Given the description of an element on the screen output the (x, y) to click on. 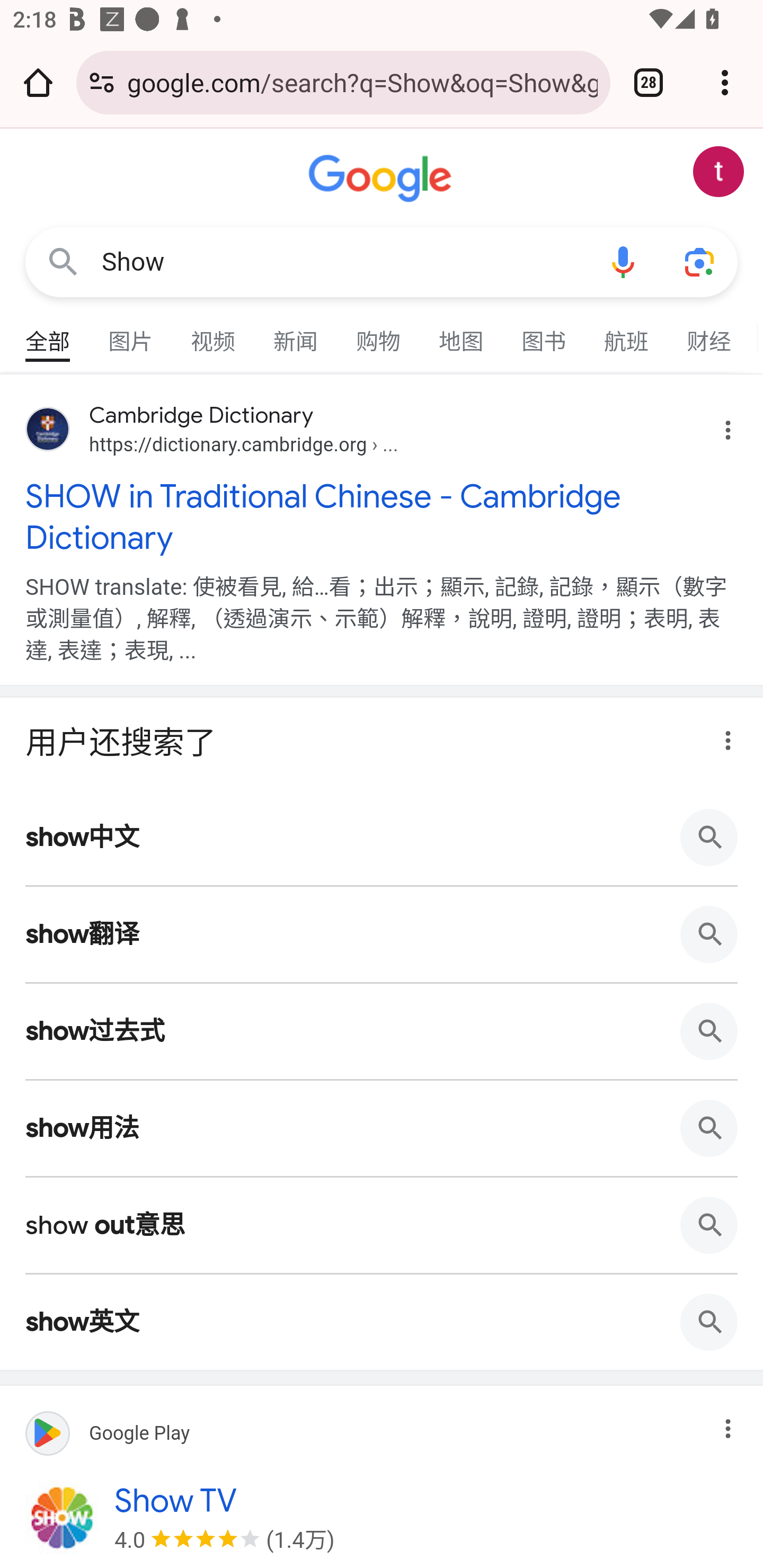
Open the home page (38, 82)
Connection is secure (101, 82)
Switch or close tabs (648, 82)
Customize and control Google Chrome (724, 82)
Google (381, 179)
Google 账号： test appium (testappium002@gmail.com) (718, 171)
Google 搜索 (63, 262)
使用拍照功能或照片进行搜索 (699, 262)
Show (343, 261)
图片 (131, 333)
视频 (213, 333)
新闻 (296, 333)
购物 (379, 333)
地图 (461, 333)
图书 (544, 333)
航班 (627, 333)
财经 (709, 333)
SHOW in Traditional Chinese - Cambridge Dictionary (381, 516)
关于这条结果的详细信息 (723, 735)
show中文 (381, 836)
show翻译 (381, 933)
show过去式 (381, 1029)
show用法 (381, 1127)
show out意思 show  out意思 (381, 1224)
show英文 (381, 1321)
关于这条结果的详细信息 (723, 1422)
